Given the description of an element on the screen output the (x, y) to click on. 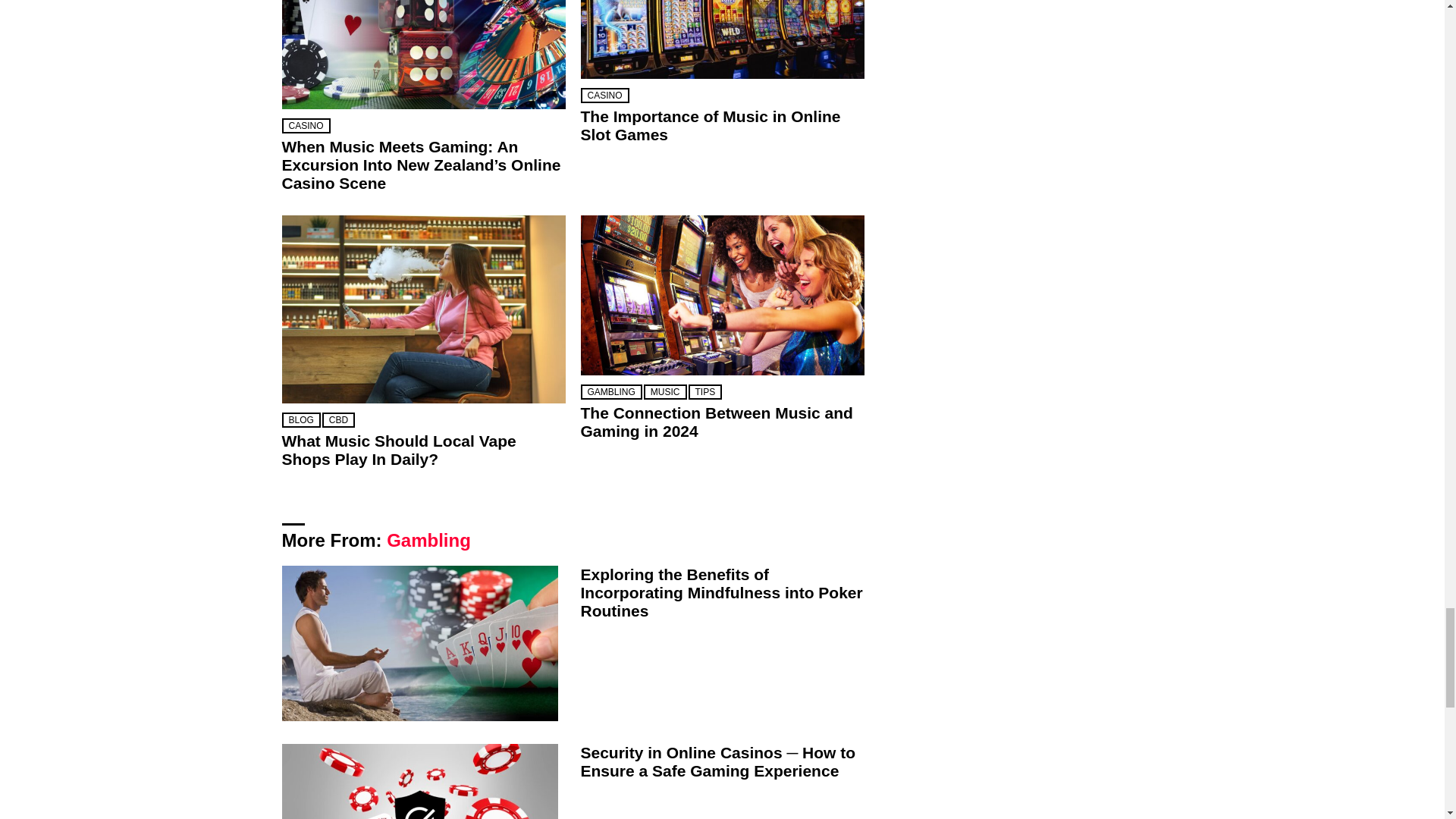
What Music Should Local Vape Shops Play In Daily? (424, 309)
The Importance of Music in Online Slot Games (722, 39)
The Connection Between Music and Gaming in 2024 (722, 295)
